Given the description of an element on the screen output the (x, y) to click on. 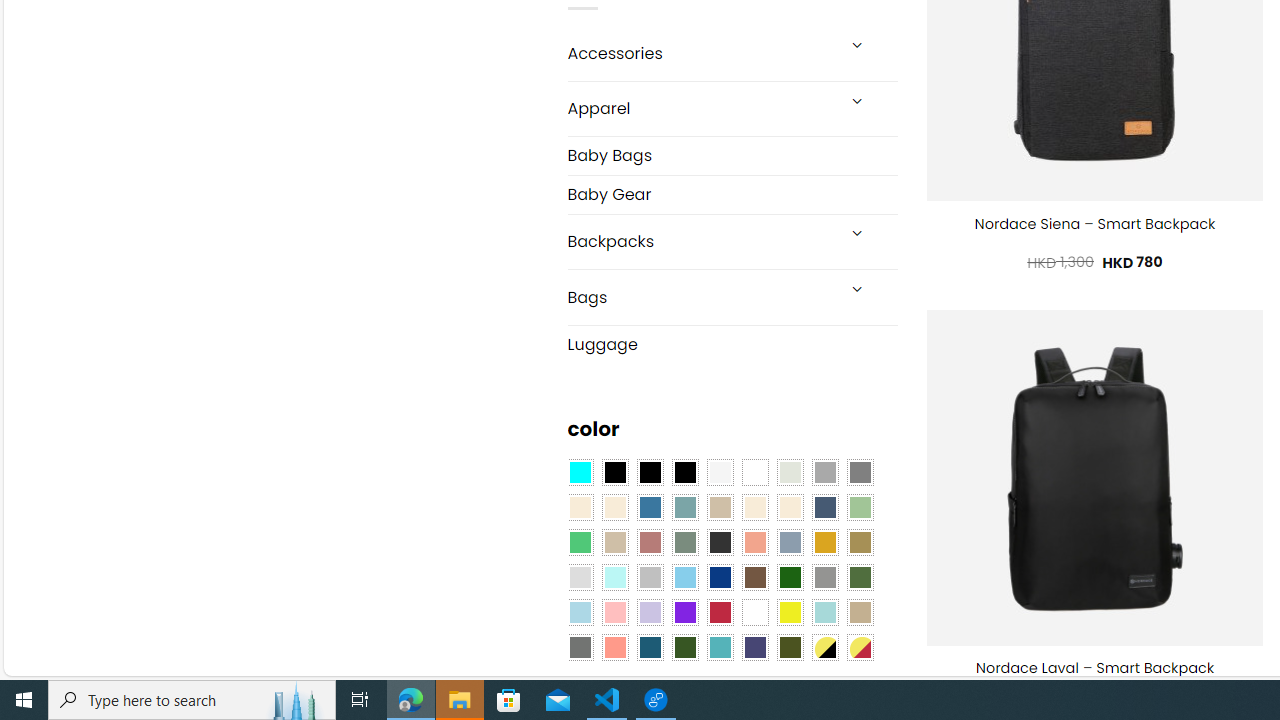
Black-Brown (684, 473)
Luggage (732, 344)
Sky Blue (684, 578)
Gray (824, 578)
Bags (700, 296)
Peach Pink (614, 647)
Teal (719, 647)
Luggage (732, 345)
Light Taupe (614, 542)
Yellow-Red (859, 647)
Charcoal (719, 542)
Clear (755, 473)
Brown (755, 578)
Mint (614, 578)
Capri Blue (650, 647)
